Given the description of an element on the screen output the (x, y) to click on. 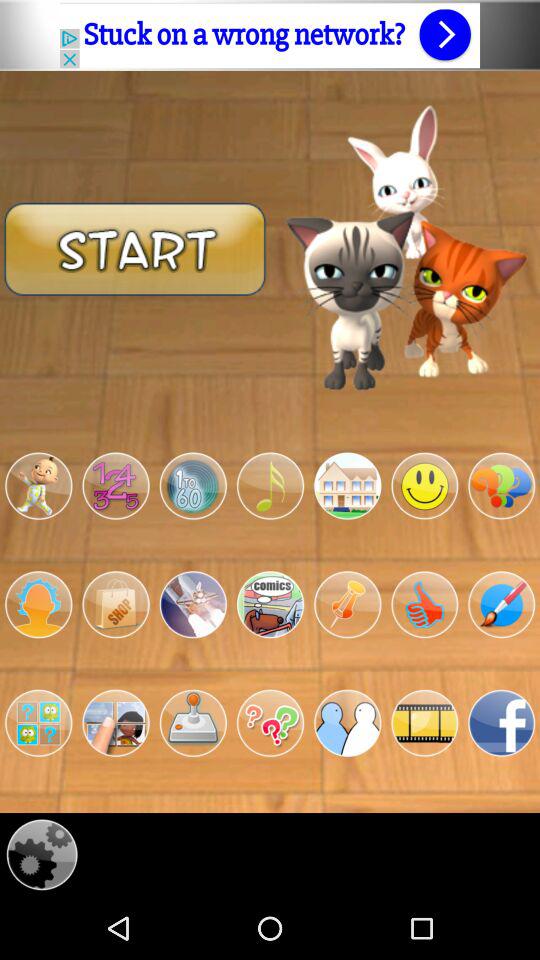
pin something (347, 604)
